Given the description of an element on the screen output the (x, y) to click on. 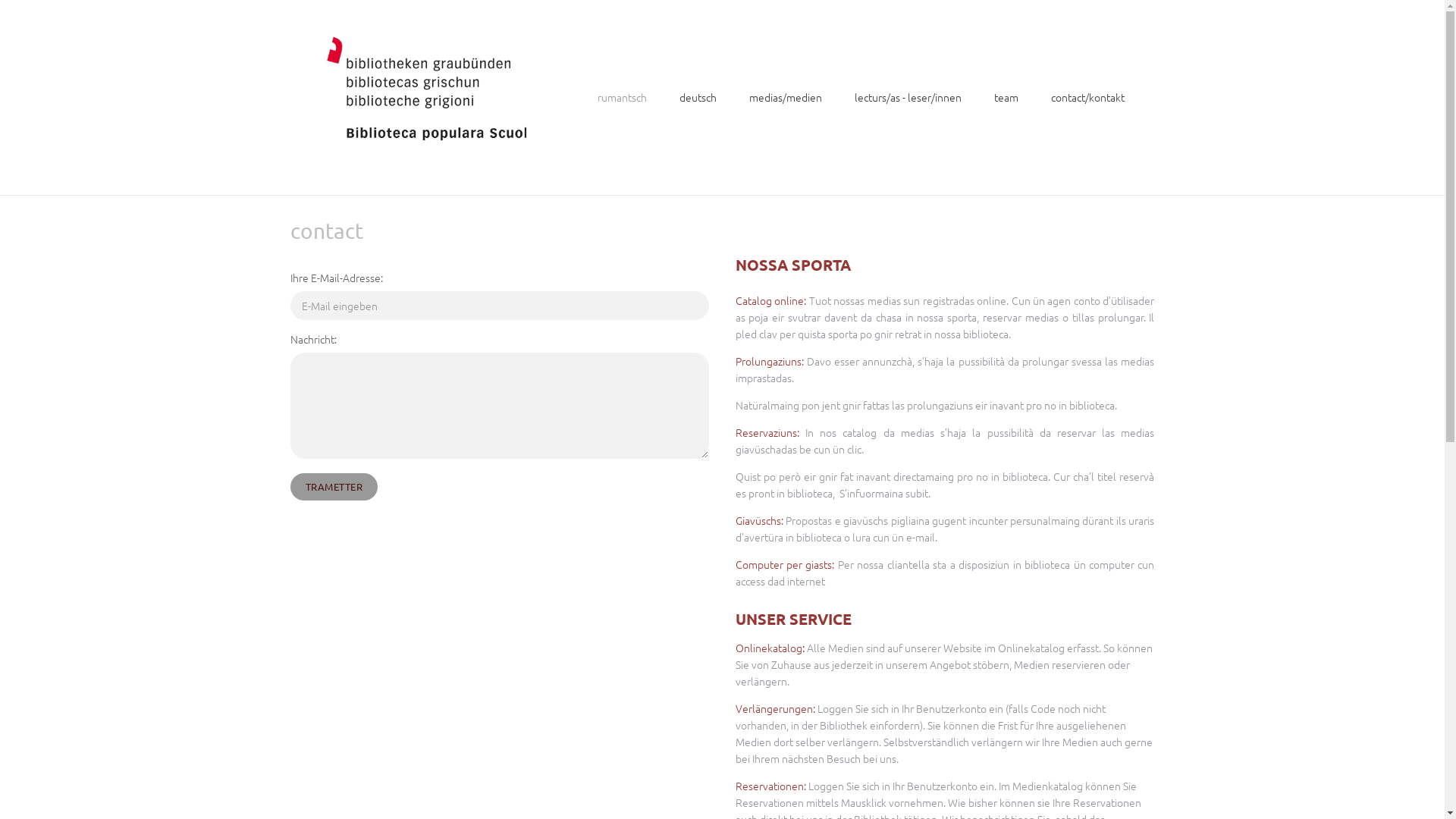
medias/medien Element type: text (786, 96)
lecturs/as - leser/innen Element type: text (909, 96)
TRAMETTER Element type: text (336, 487)
team Element type: text (1007, 96)
deutsch Element type: text (698, 96)
contact/kontakt Element type: text (1088, 96)
rumantsch Element type: text (622, 96)
